Given the description of an element on the screen output the (x, y) to click on. 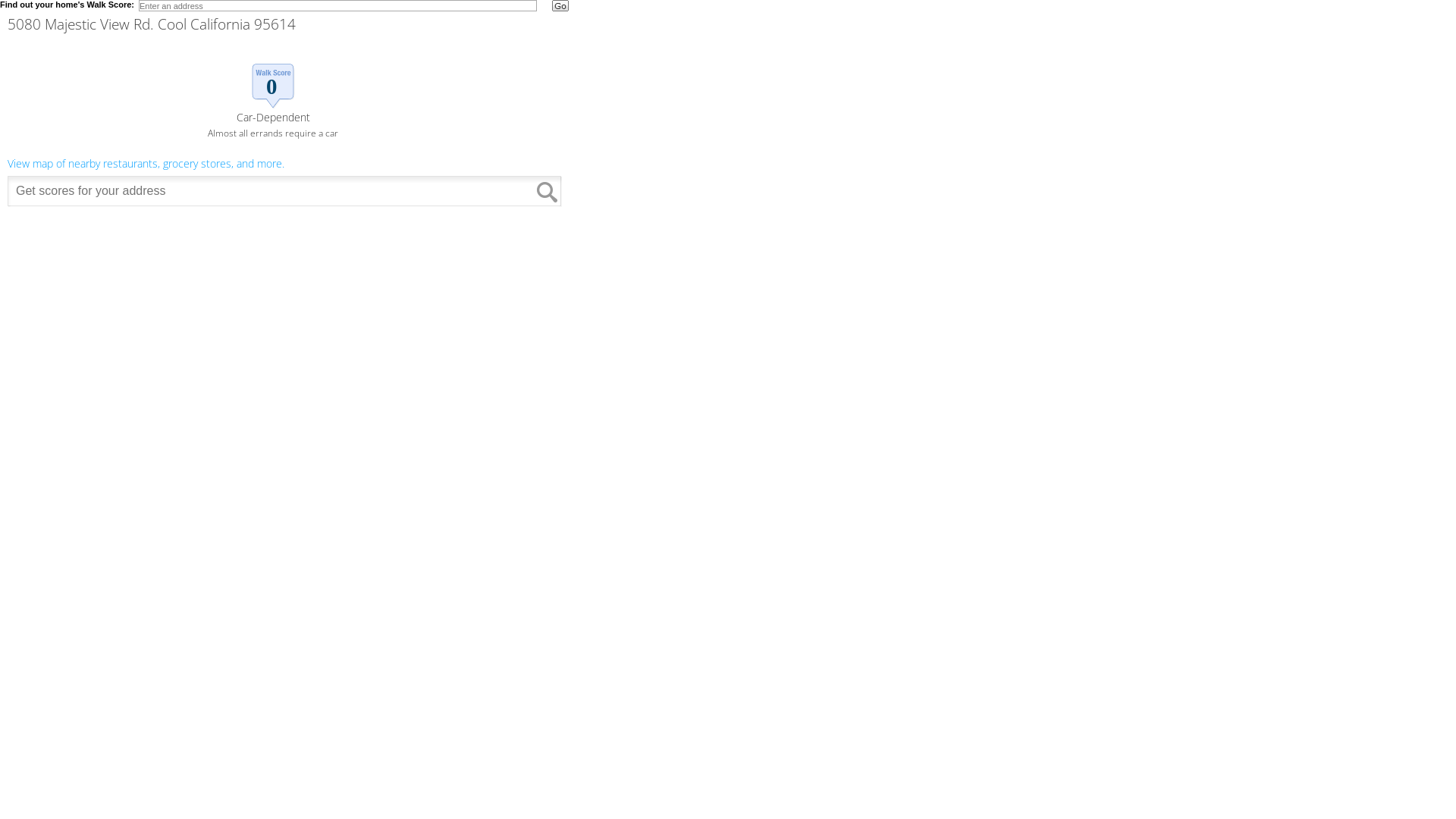
Find out your home's Walk Score: Element type: text (67, 4)
Walk Score Element type: hover (284, 110)
